Given the description of an element on the screen output the (x, y) to click on. 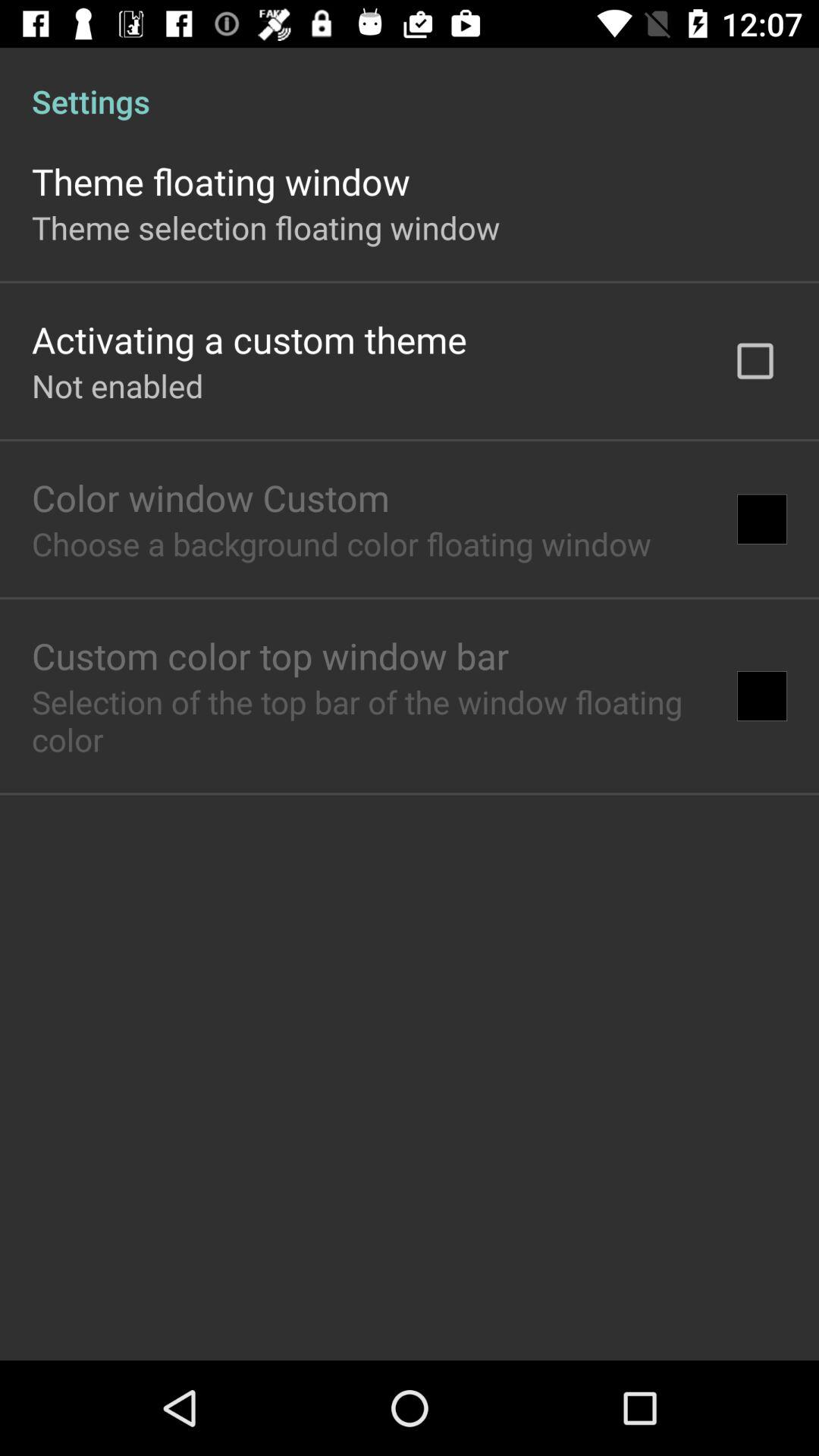
launch the icon to the right of the choose a background (762, 519)
